Given the description of an element on the screen output the (x, y) to click on. 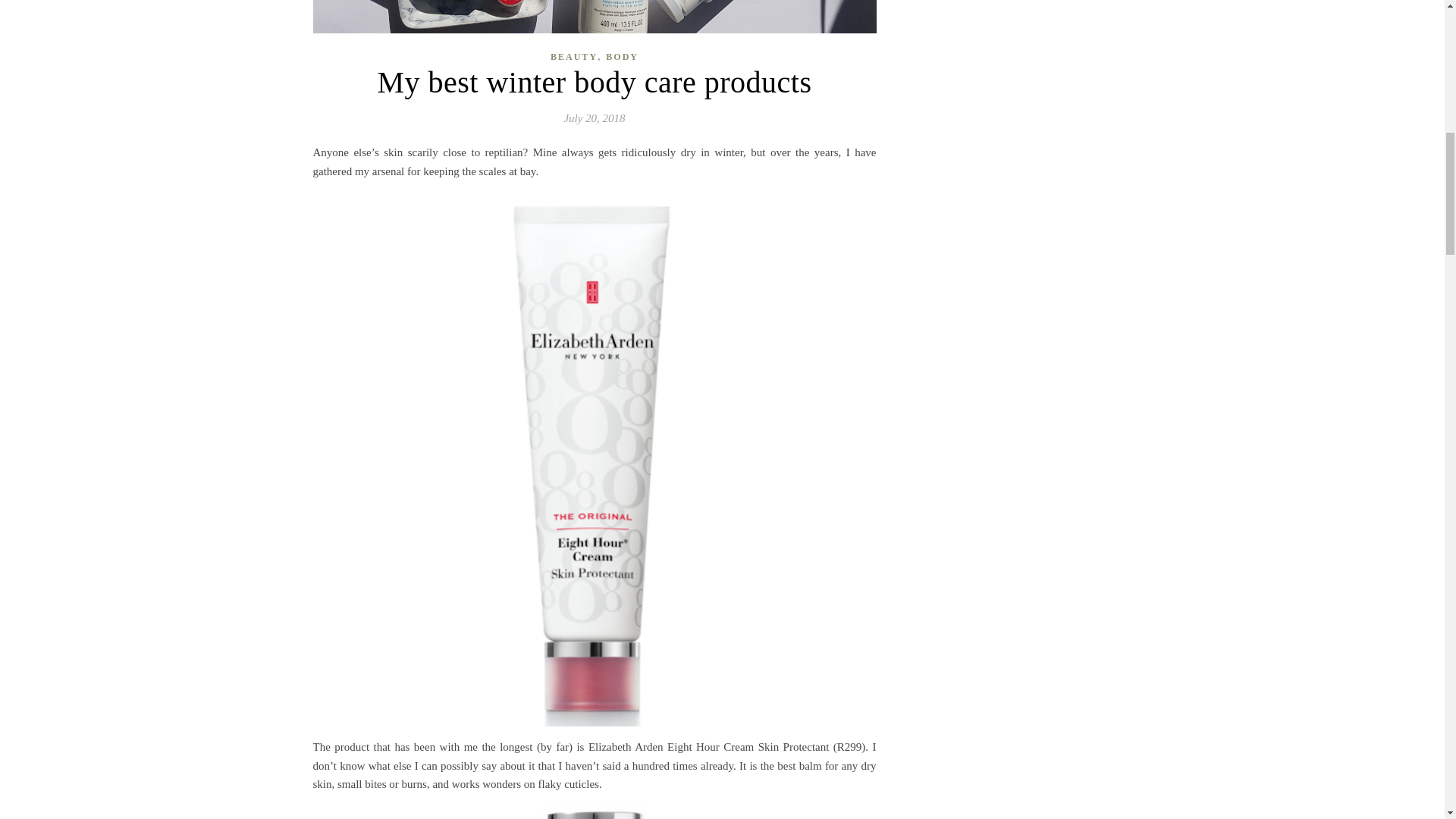
BEAUTY (573, 56)
BODY (622, 56)
